Given the description of an element on the screen output the (x, y) to click on. 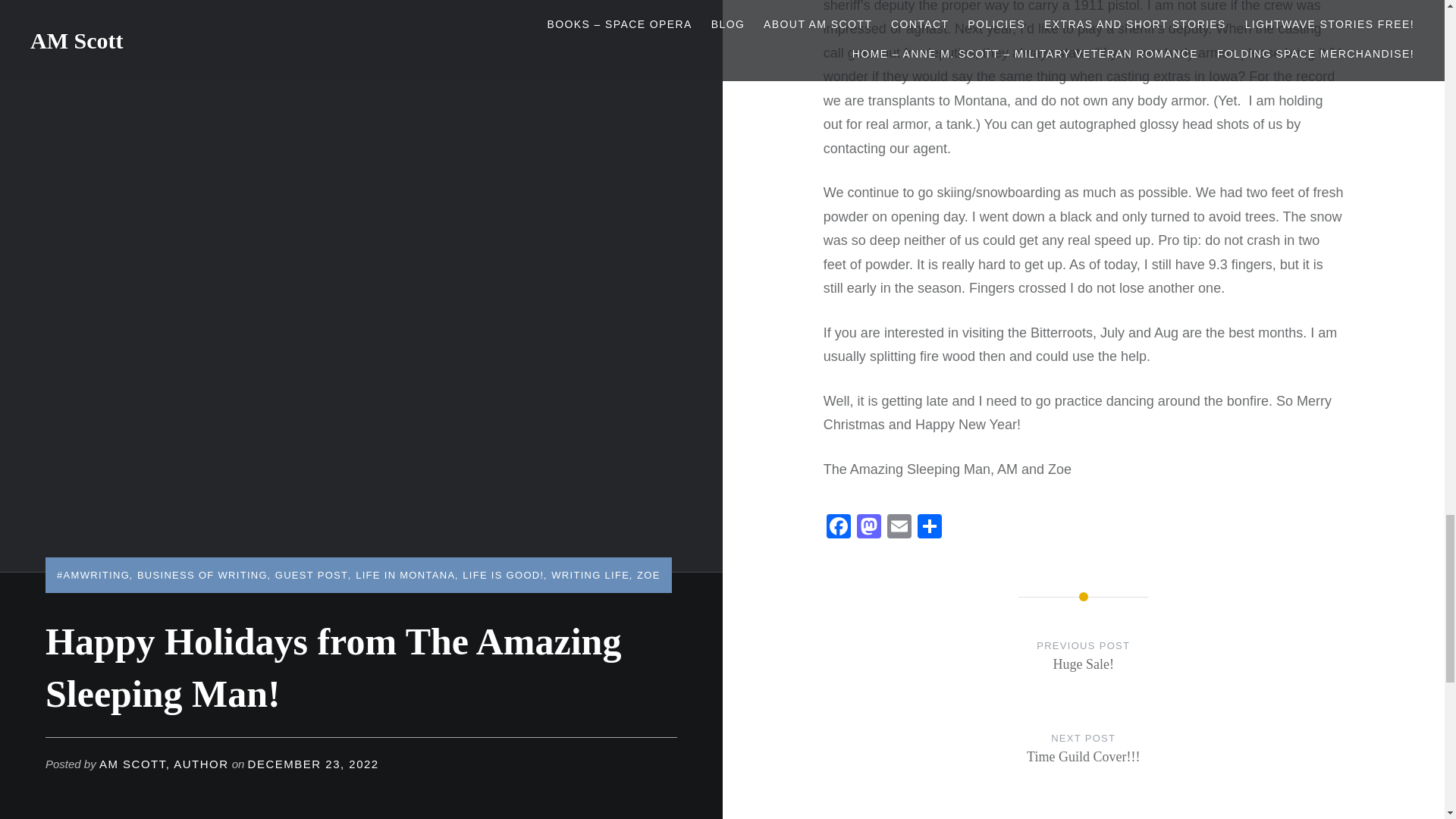
Mastodon (868, 528)
Email (898, 528)
Facebook (838, 528)
Email (898, 528)
Facebook (1083, 762)
Mastodon (1083, 670)
